Given the description of an element on the screen output the (x, y) to click on. 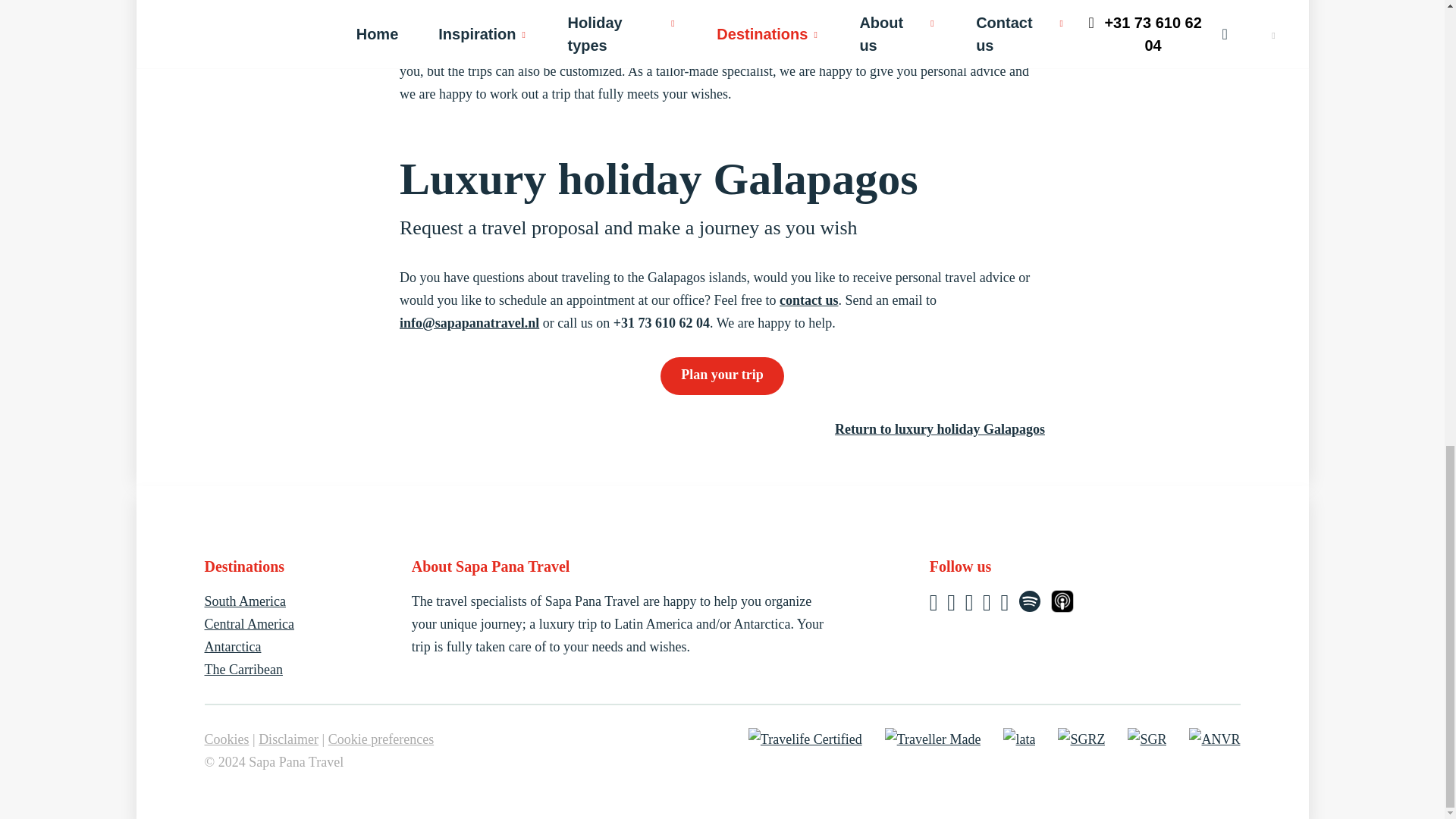
Apple Podcasts (1062, 605)
Spotify (1031, 605)
